Given the description of an element on the screen output the (x, y) to click on. 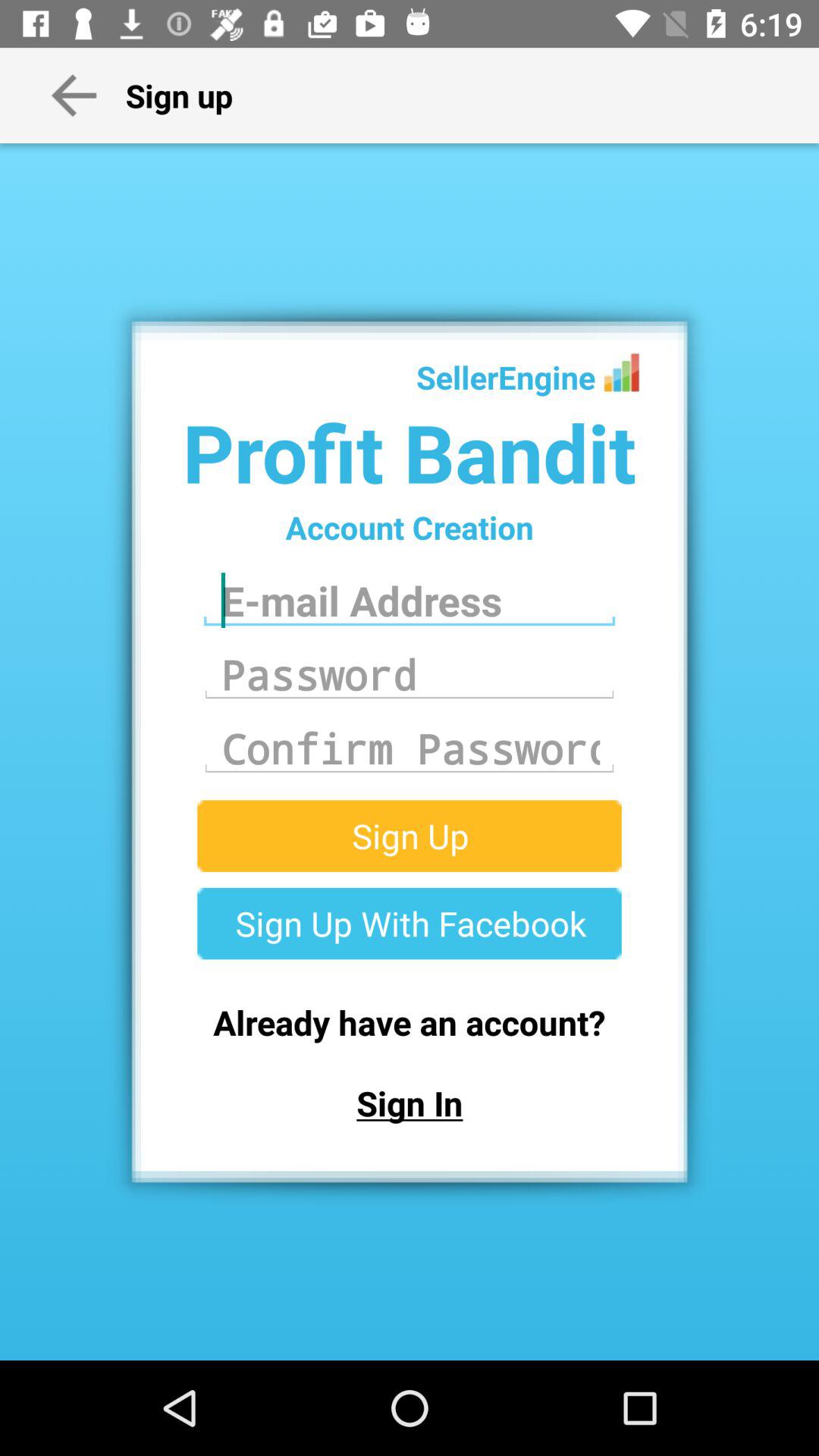
enter password (409, 748)
